Given the description of an element on the screen output the (x, y) to click on. 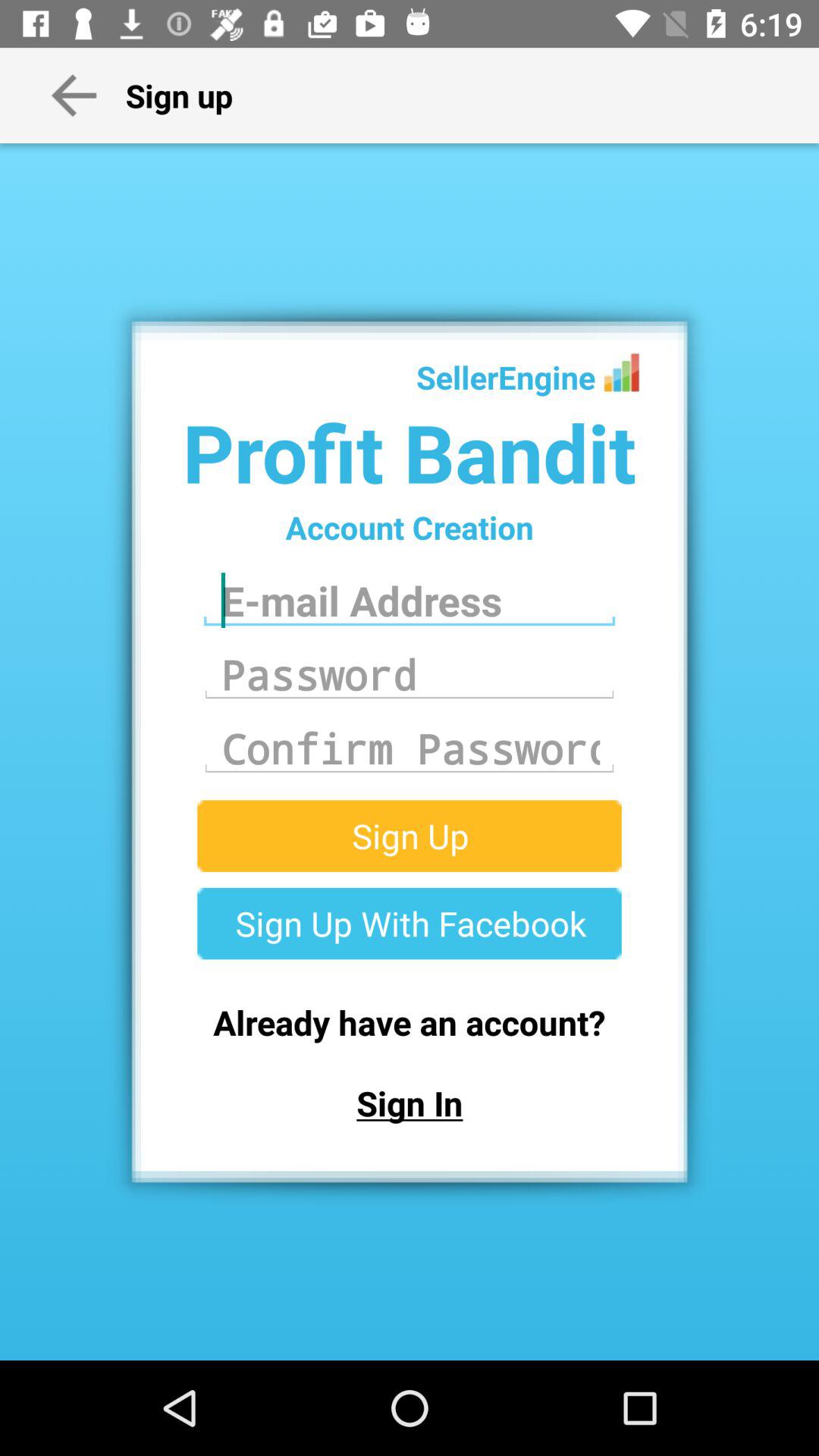
enter password (409, 748)
